Given the description of an element on the screen output the (x, y) to click on. 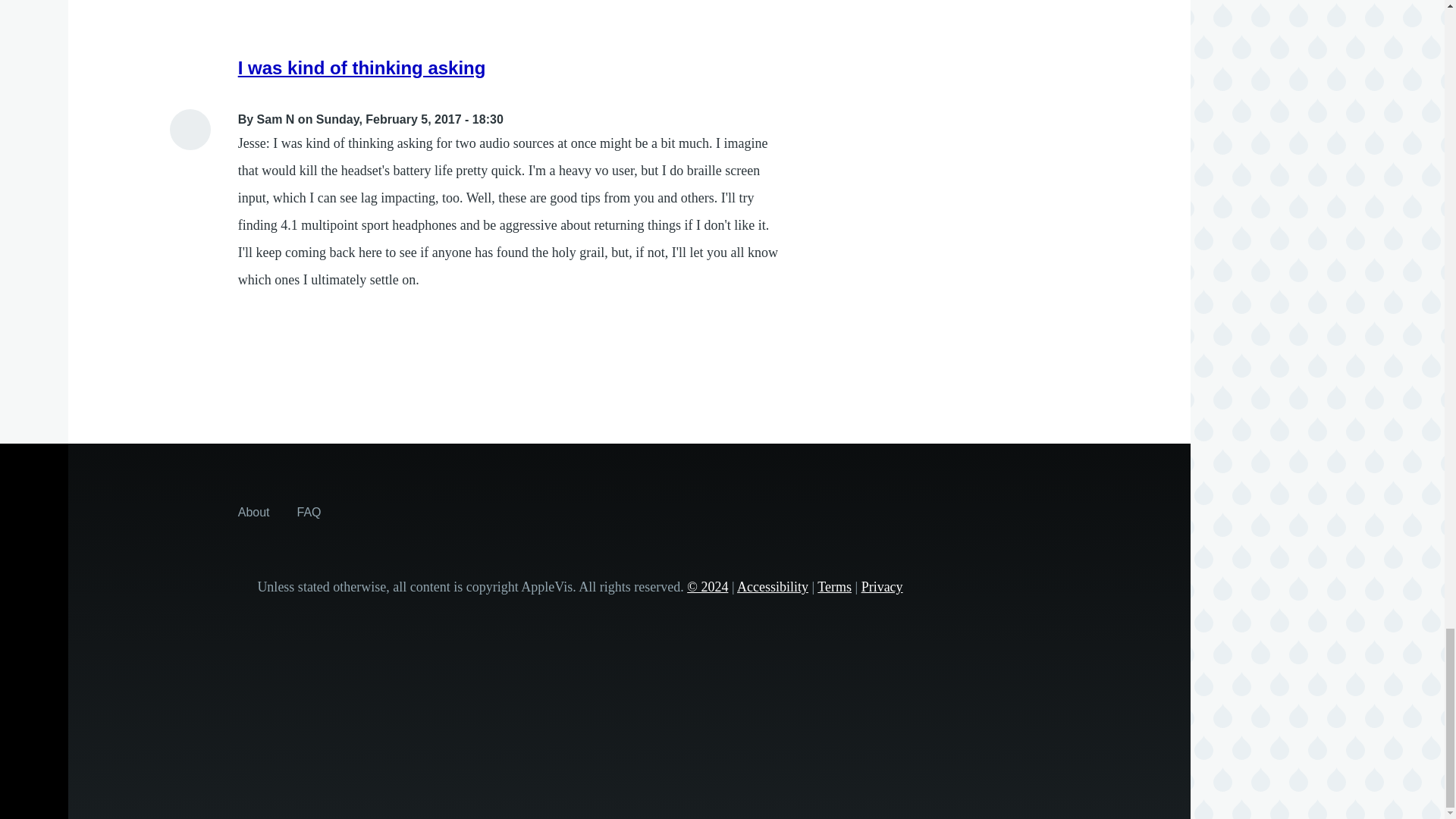
I was kind of thinking asking (362, 67)
About (253, 511)
About (253, 511)
